Given the description of an element on the screen output the (x, y) to click on. 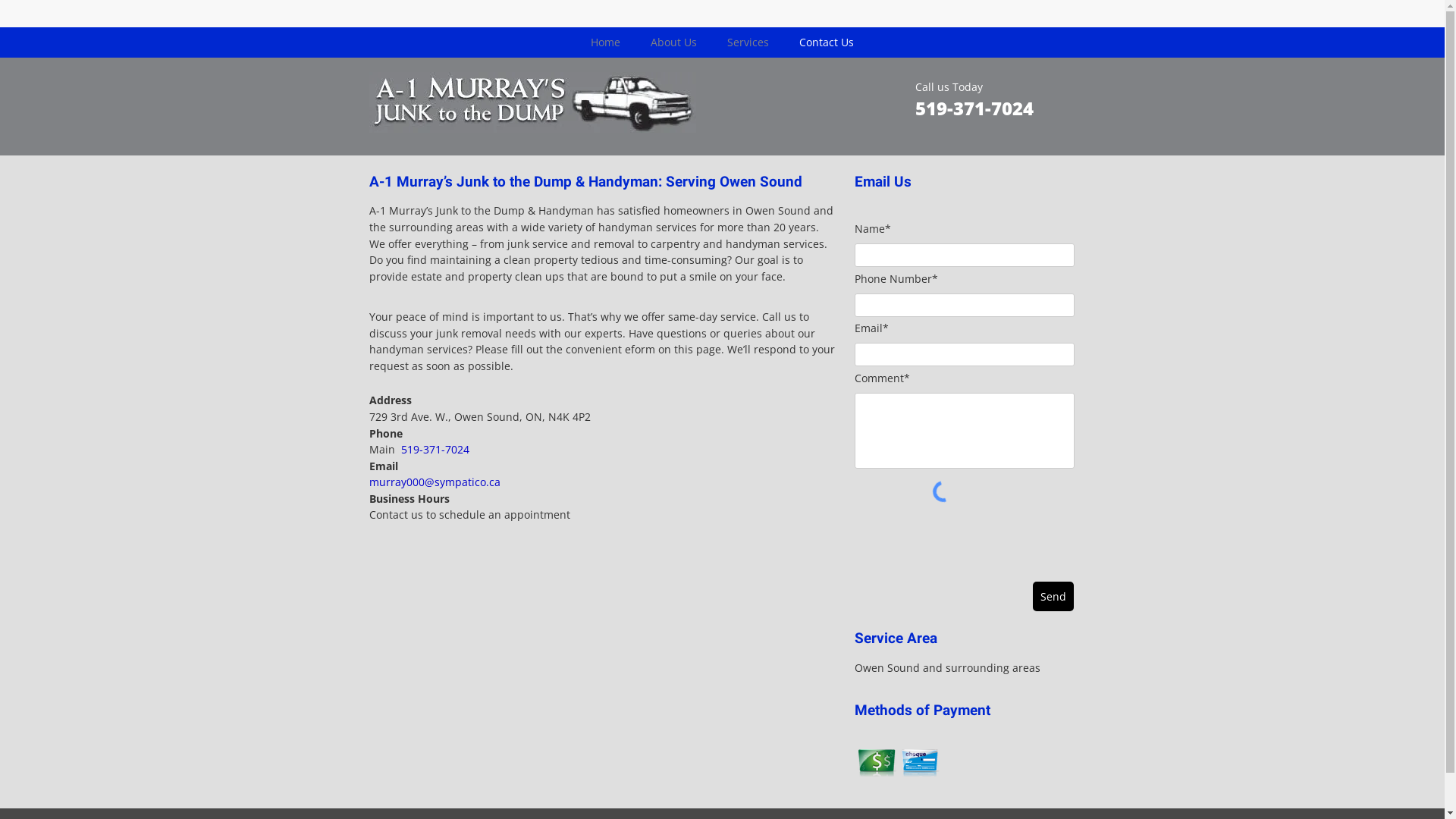
519-371-7024 Element type: text (434, 449)
murray000@sympatico.ca Element type: text (433, 481)
Embedded Content Element type: hover (1067, 12)
Google Maps Element type: hover (599, 614)
Call us Today Element type: text (948, 86)
Embedded Content Element type: hover (943, 11)
About Us Element type: text (673, 42)
Services Element type: text (748, 42)
Home Element type: text (605, 42)
Send Element type: text (1052, 596)
519-371-7024 Element type: text (973, 107)
Contact Us Element type: text (826, 42)
